Given the description of an element on the screen output the (x, y) to click on. 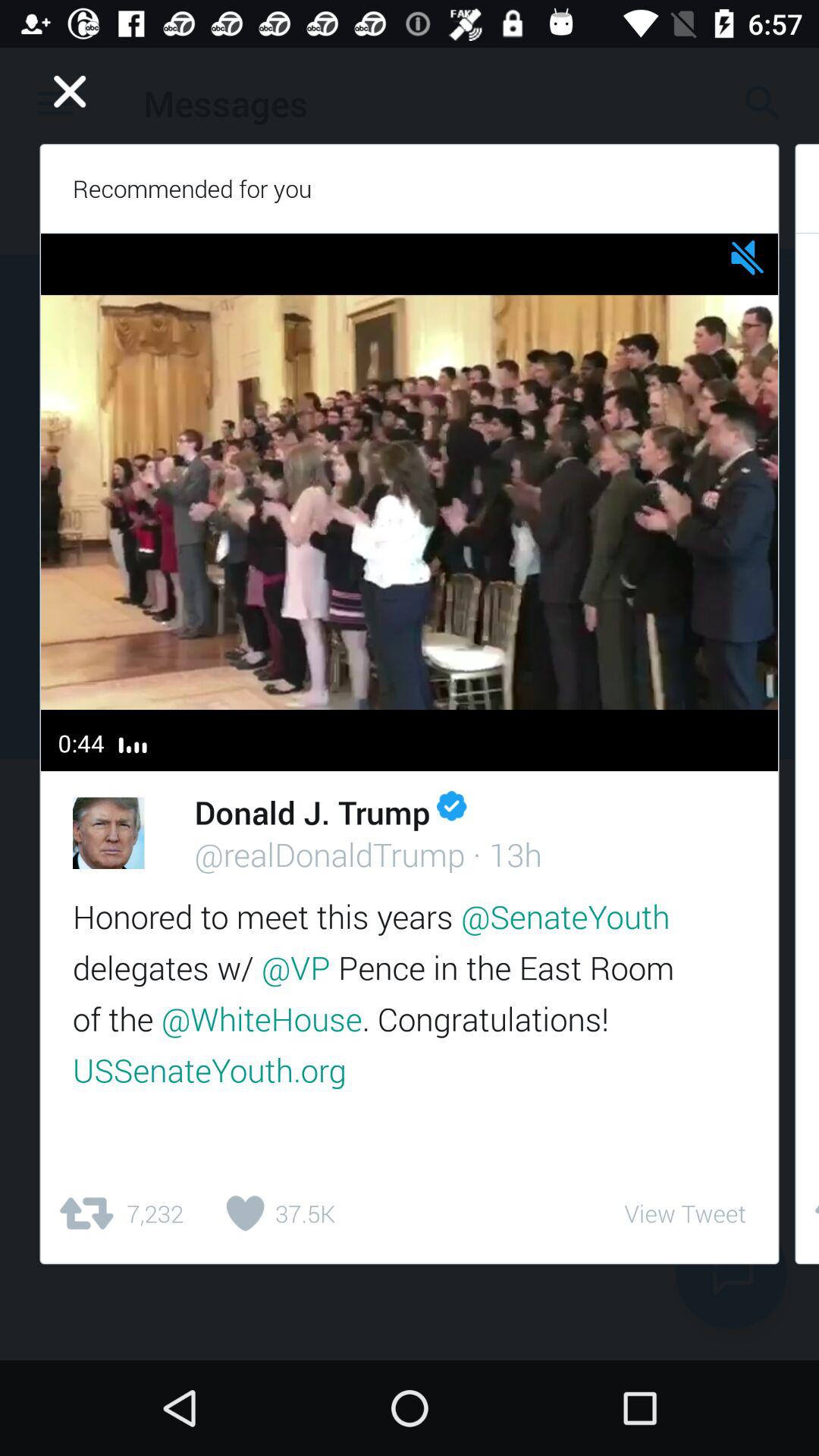
turn off 7,232 (119, 1213)
